Given the description of an element on the screen output the (x, y) to click on. 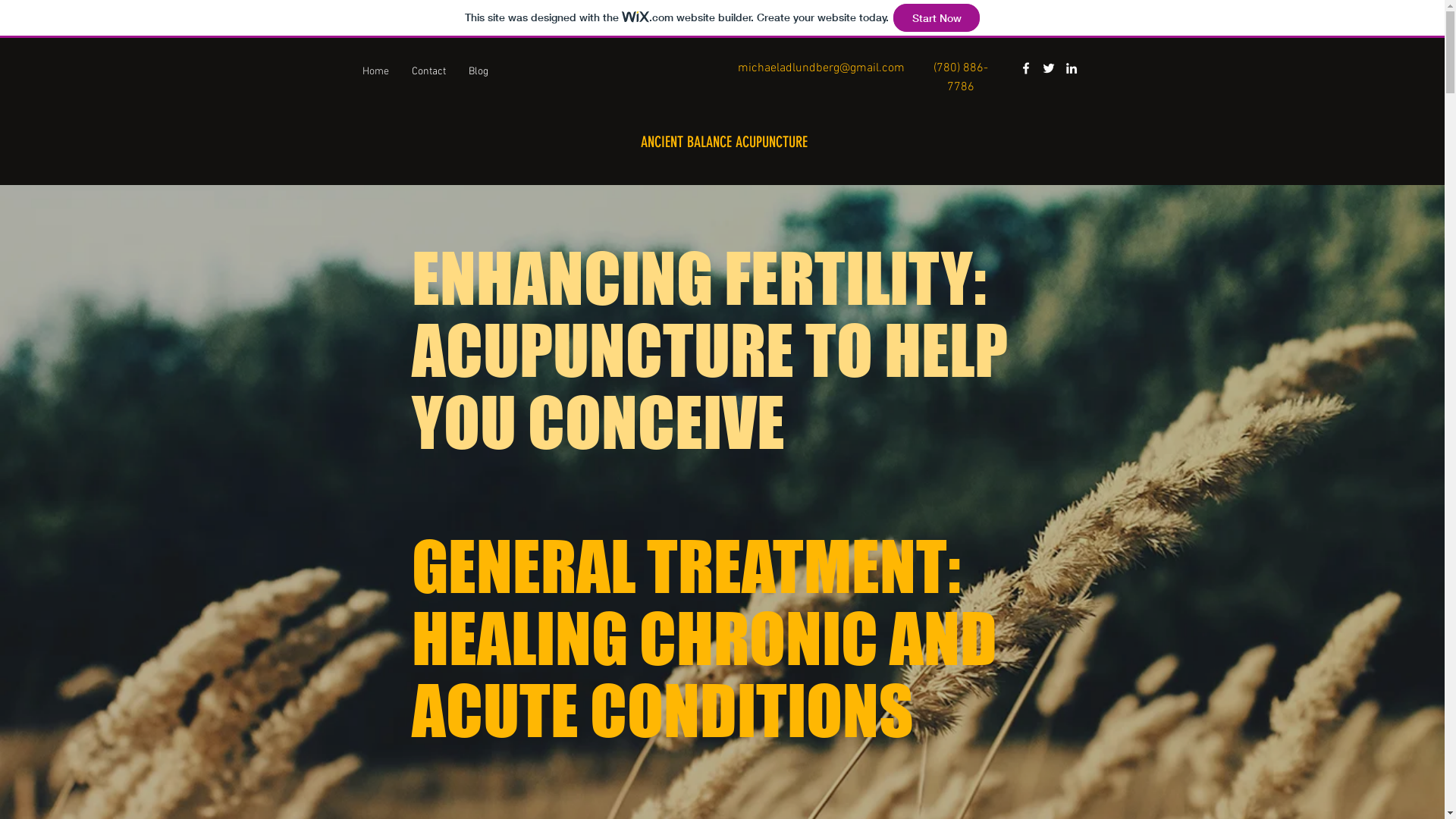
michaeladlundberg@gmail.com Element type: text (820, 67)
Blog Element type: text (477, 71)
Contact Element type: text (428, 71)
Home Element type: text (374, 71)
